Given the description of an element on the screen output the (x, y) to click on. 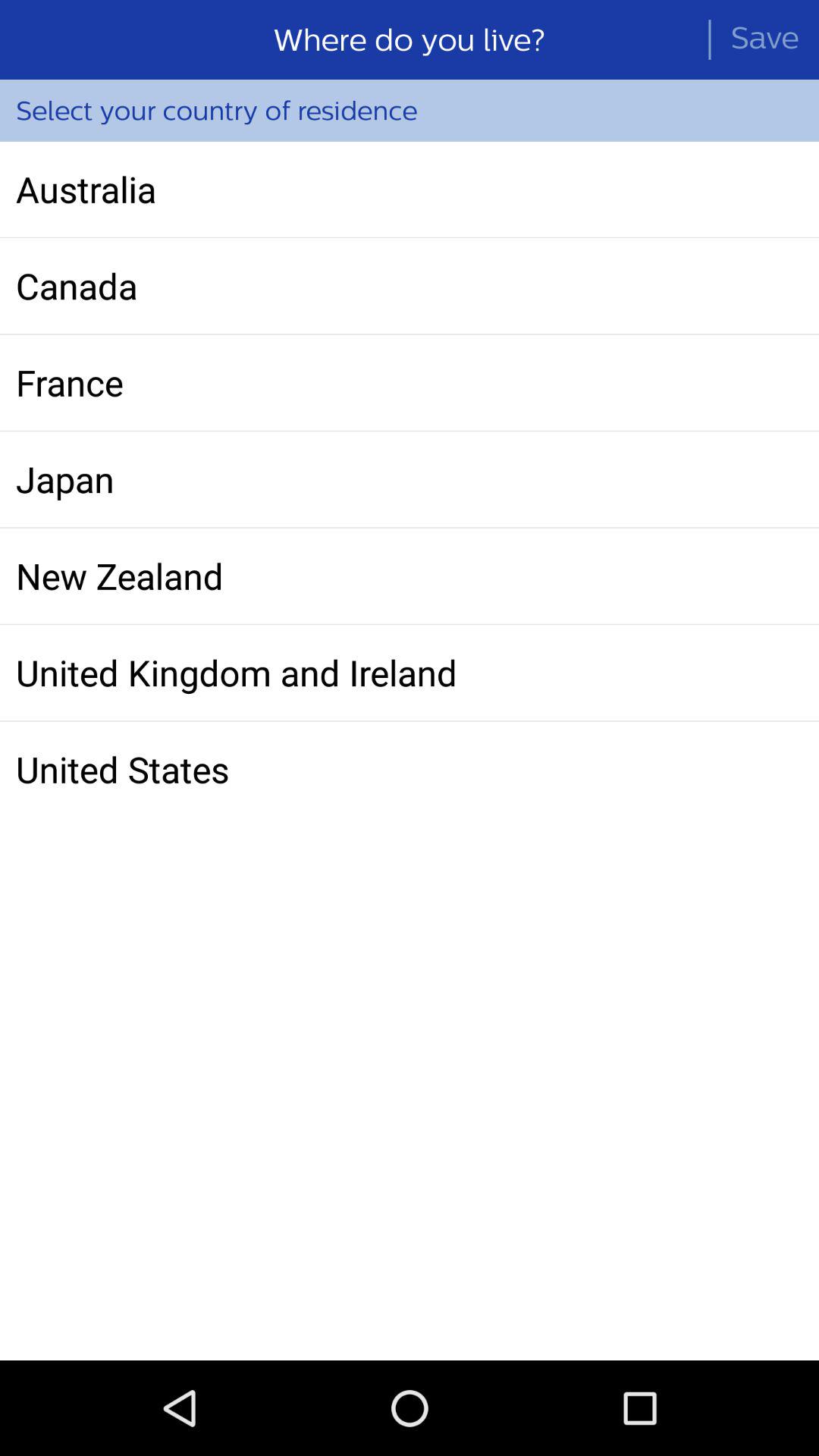
launch the japan app (409, 479)
